Given the description of an element on the screen output the (x, y) to click on. 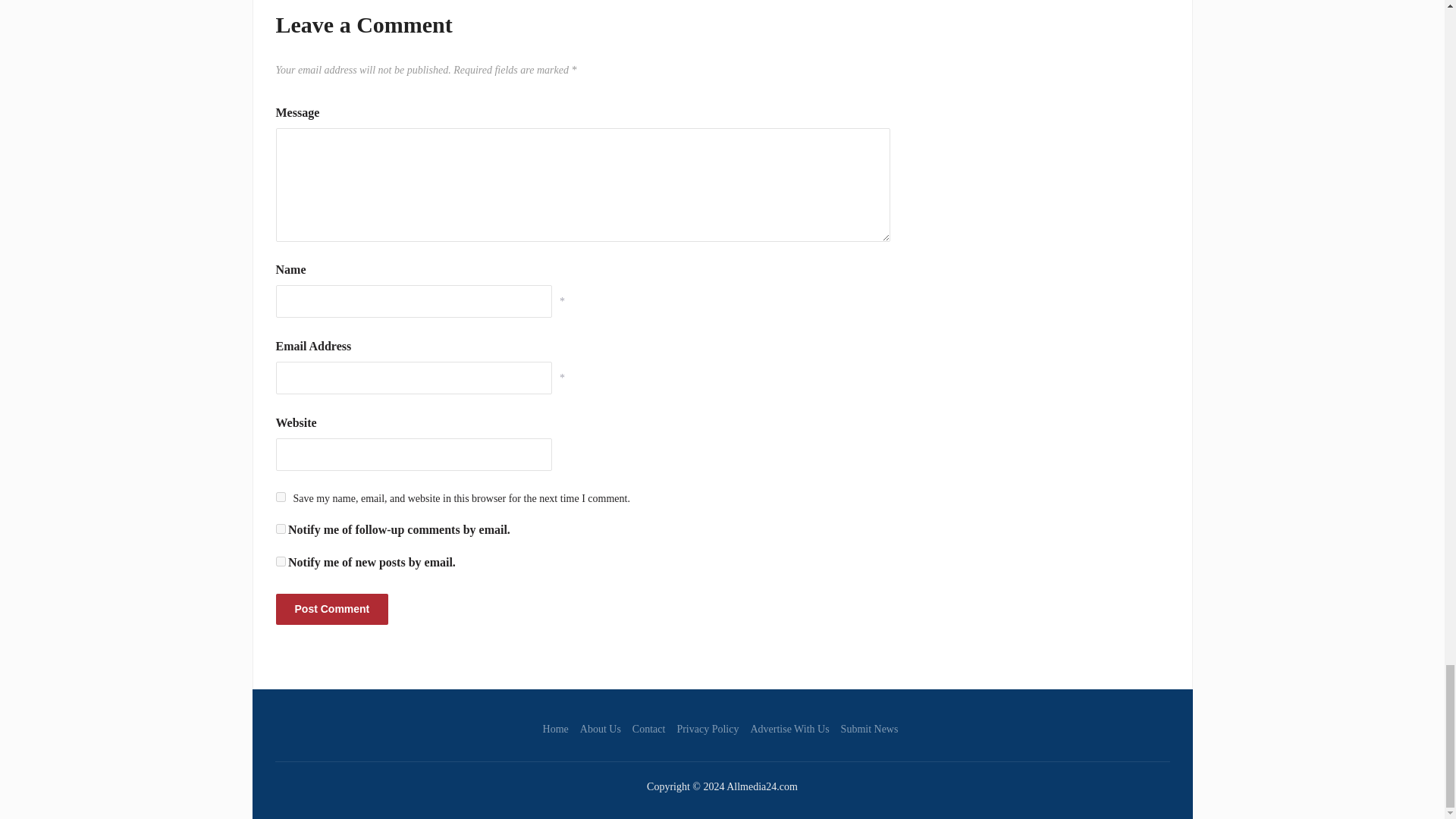
subscribe (280, 528)
yes (280, 497)
Post Comment (332, 608)
subscribe (280, 561)
